Given the description of an element on the screen output the (x, y) to click on. 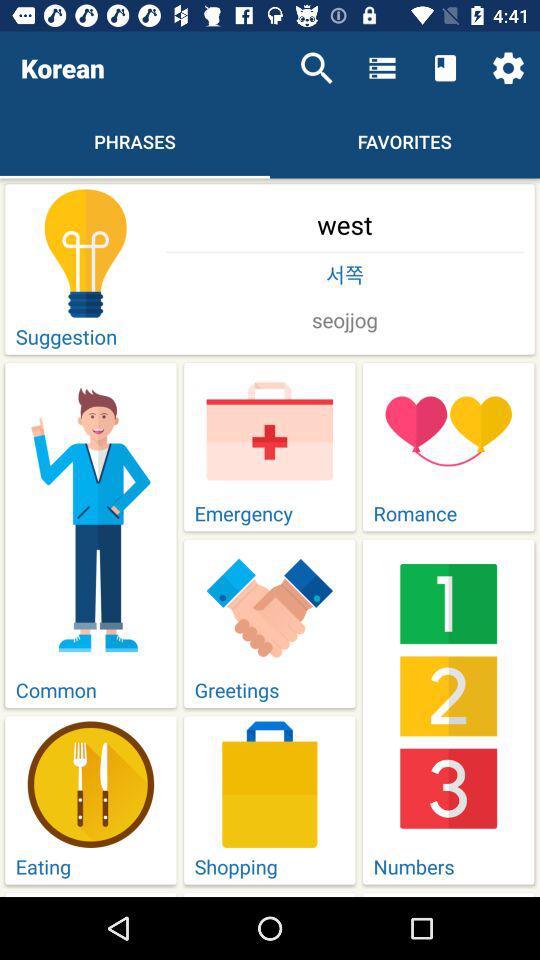
click the item next to the korean (316, 67)
